Given the description of an element on the screen output the (x, y) to click on. 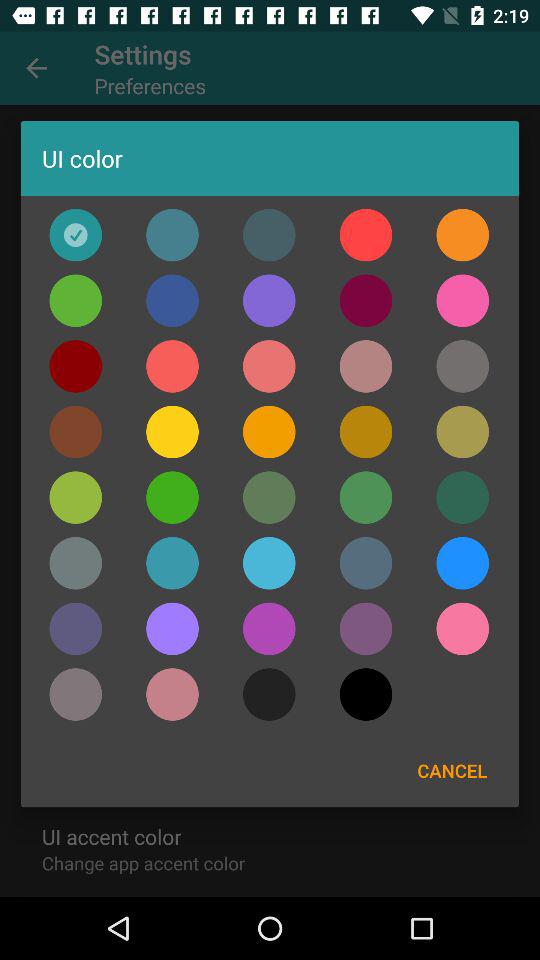
color option (365, 431)
